Given the description of an element on the screen output the (x, y) to click on. 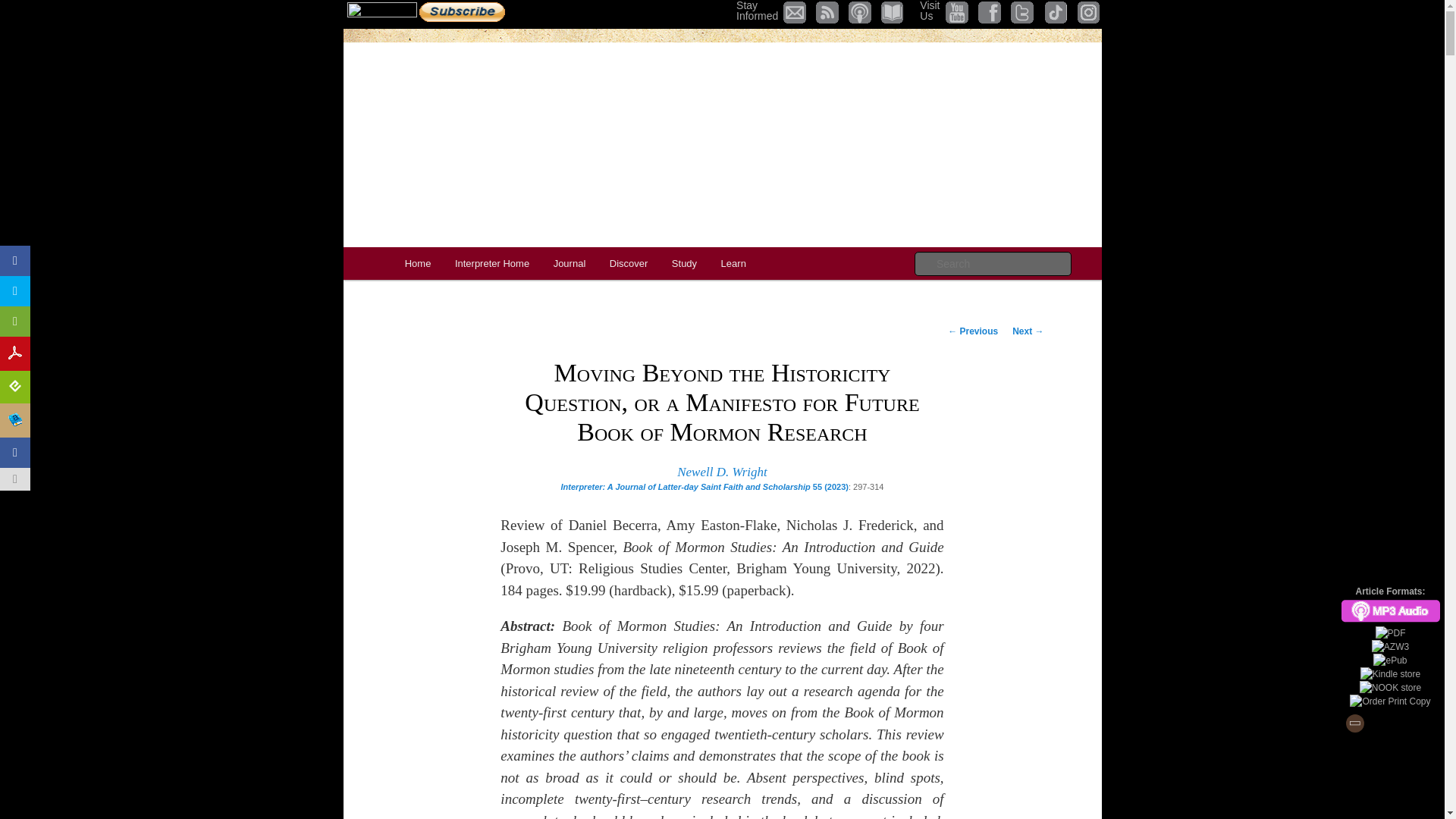
In-Depth Resources (684, 263)
Donate to the Interpreter Foundation (381, 12)
Stay Informed (461, 12)
Stay Informed (756, 11)
Journal (756, 11)
Interpreter Home (568, 263)
Home (491, 263)
Skip to primary content (417, 263)
